Given the description of an element on the screen output the (x, y) to click on. 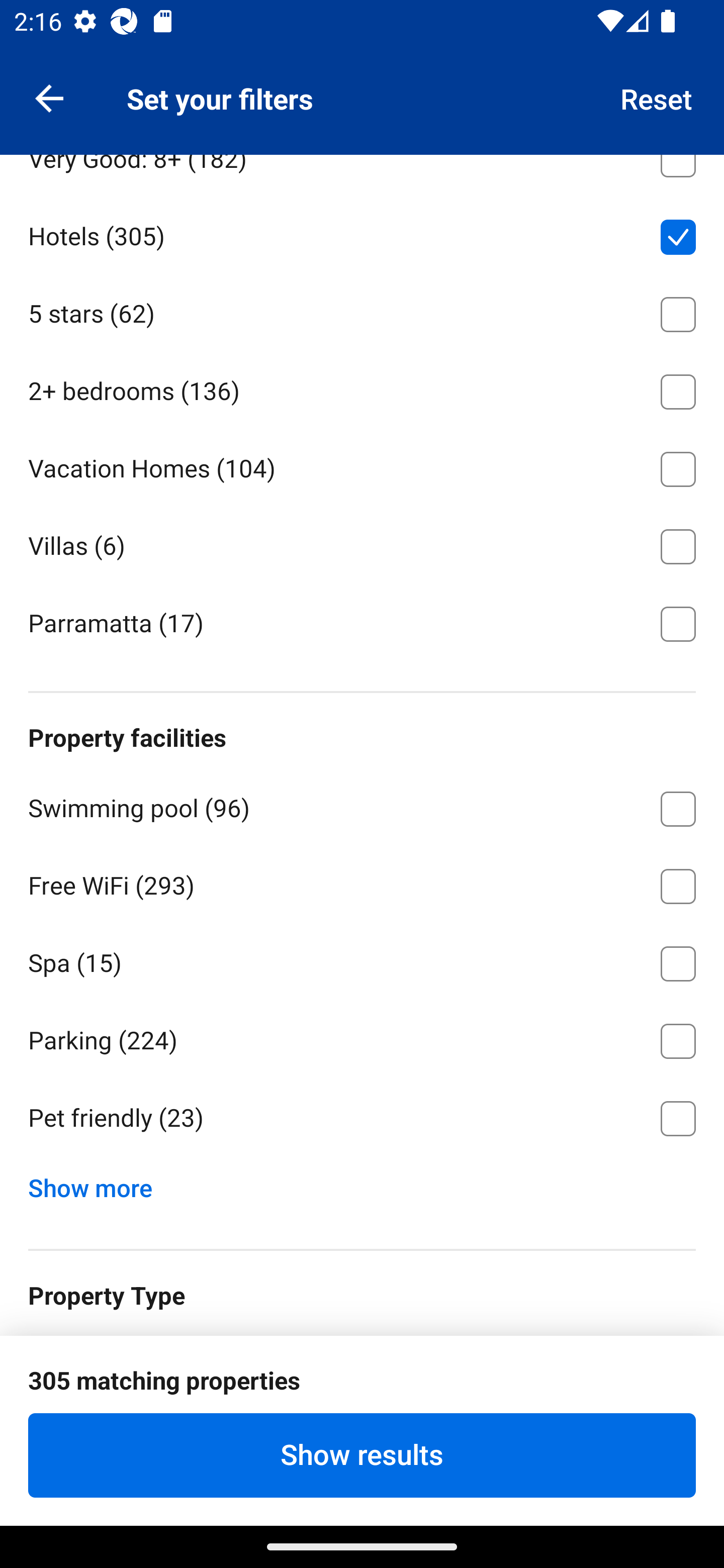
Apartments ⁦(361) (361, 78)
Navigate up (49, 97)
Reset (656, 97)
Very Good: 8+ ⁦(182) (361, 174)
Hotels ⁦(305) (361, 233)
5 stars ⁦(62) (361, 310)
2+ bedrooms ⁦(136) (361, 387)
Vacation Homes ⁦(104) (361, 465)
Villas ⁦(6) (361, 542)
Parramatta ⁦(17) (361, 622)
Swimming pool ⁦(96) (361, 804)
Free WiFi ⁦(293) (361, 882)
Spa ⁦(15) (361, 959)
Parking ⁦(224) (361, 1037)
Pet friendly ⁦(23) (361, 1118)
Show more (97, 1183)
Show results (361, 1454)
